Given the description of an element on the screen output the (x, y) to click on. 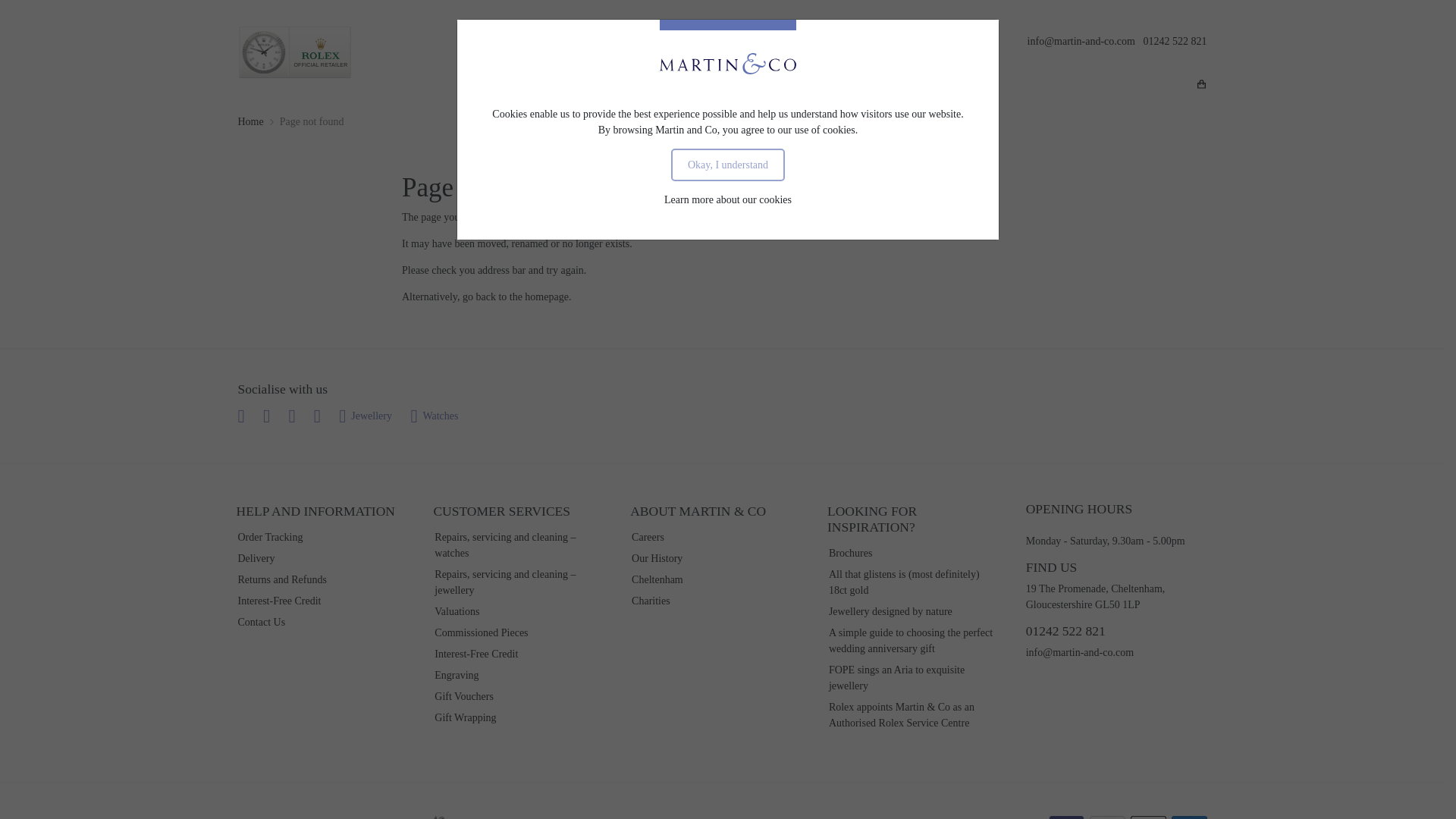
01242 522 821 (1174, 41)
ROLEX (563, 87)
TUDOR (620, 87)
Rolex Clock (295, 51)
JEWELLERY (760, 87)
WATCHES (684, 87)
